Given the description of an element on the screen output the (x, y) to click on. 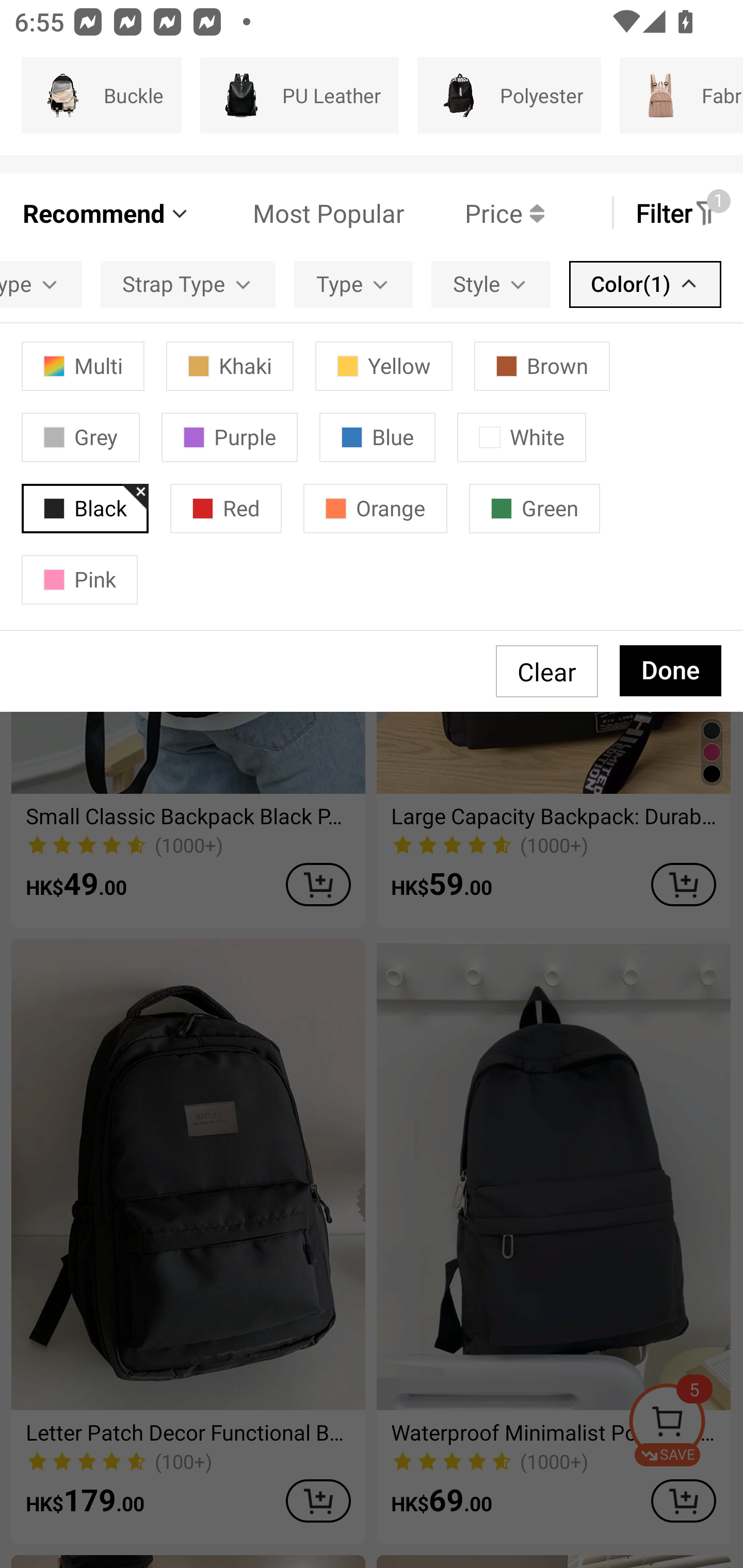
Buckle (101, 95)
PU Leather (298, 95)
Polyester (509, 95)
Fabric (681, 95)
Recommend (106, 213)
Most Popular (297, 213)
Price (474, 213)
Filter 1 (677, 213)
Closure Type (40, 283)
Strap Type (187, 283)
Type (353, 283)
Style (490, 283)
Color(1) (645, 283)
